Given the description of an element on the screen output the (x, y) to click on. 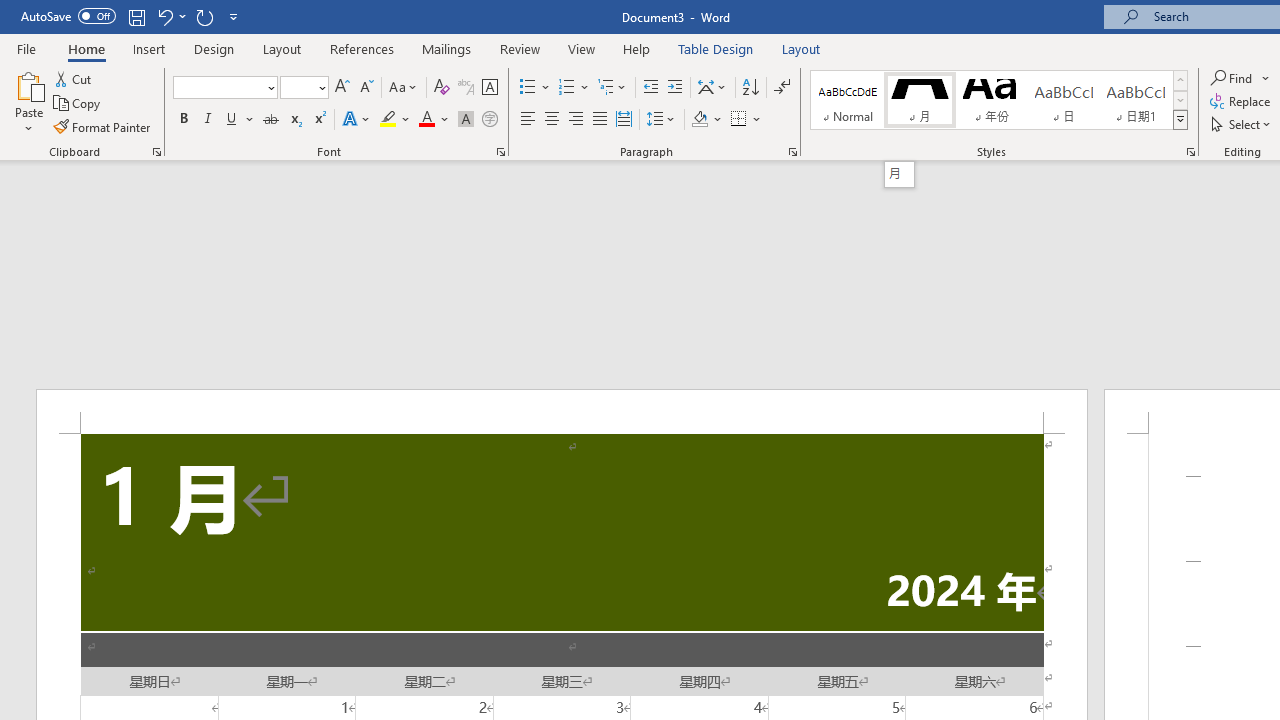
Superscript (319, 119)
Select (1242, 124)
Cut (73, 78)
Sort... (750, 87)
Office Clipboard... (156, 151)
Table Design (715, 48)
Line and Paragraph Spacing (661, 119)
Strikethrough (270, 119)
Copy (78, 103)
Character Border (489, 87)
